Given the description of an element on the screen output the (x, y) to click on. 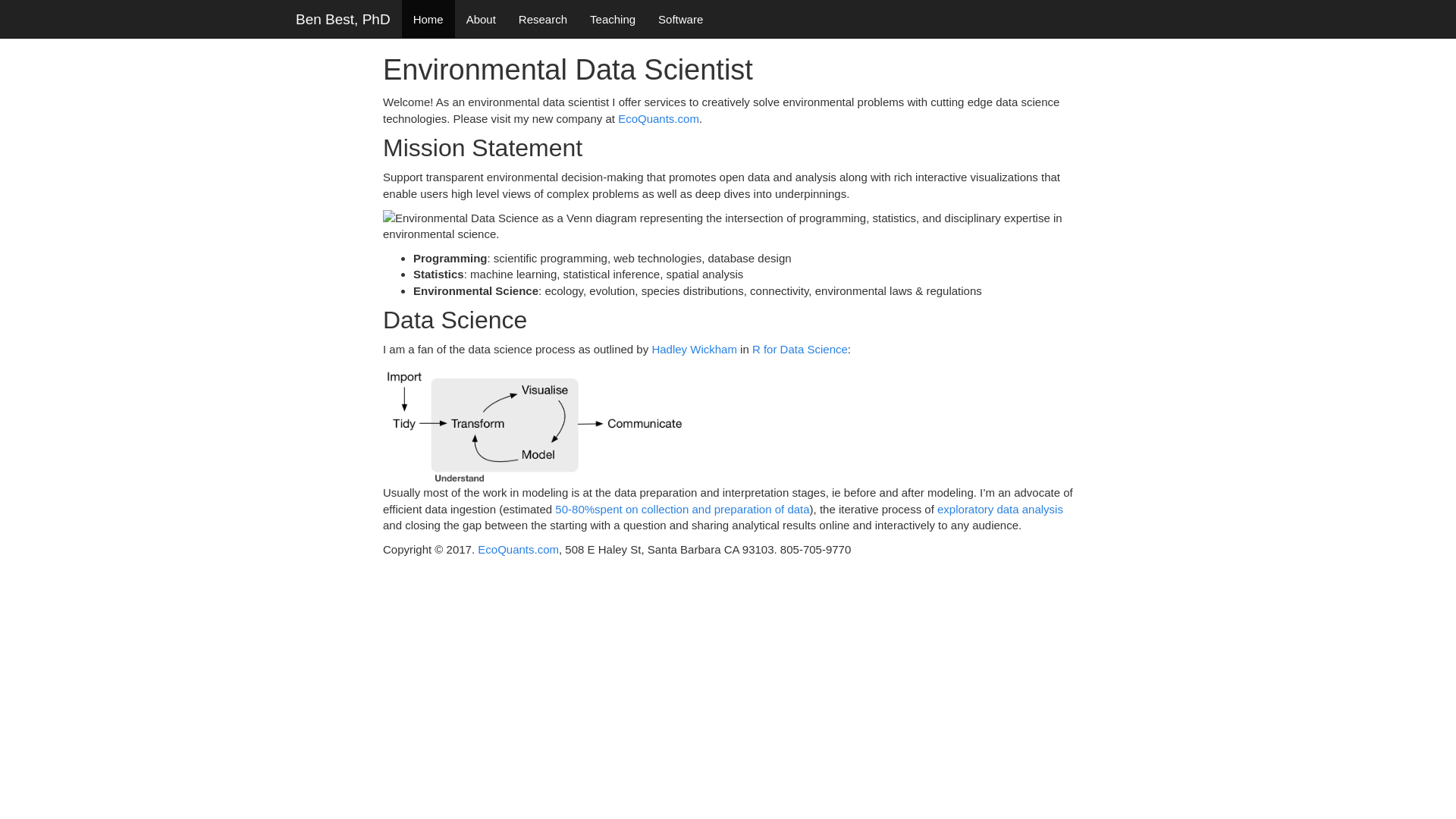
Ben Best, PhD (342, 18)
EcoQuants.com (657, 118)
EcoQuants.com (518, 549)
Hadley Wickham (693, 349)
R for Data Science (799, 349)
exploratory data analysis (999, 508)
Home (427, 18)
Software (680, 18)
About (480, 18)
Teaching (612, 18)
